Given the description of an element on the screen output the (x, y) to click on. 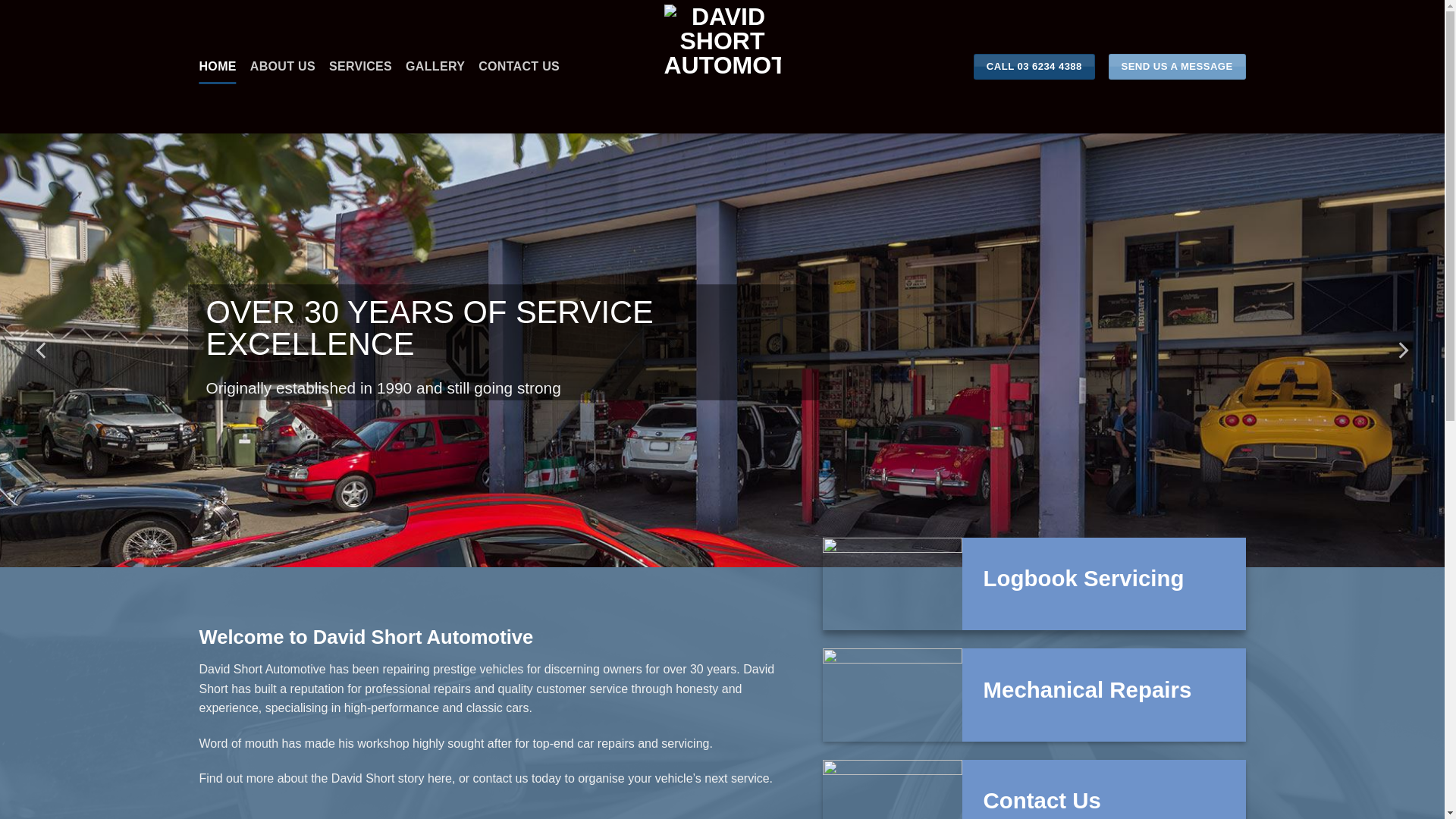
SEND US A MESSAGE Element type: text (1176, 66)
Mechanical Repairs Element type: text (1087, 689)
contact us today Element type: text (517, 777)
ABOUT US Element type: text (282, 66)
SERVICES Element type: text (360, 66)
CALL 03 6234 4388 Element type: text (1034, 66)
CONTACT US Element type: text (518, 66)
here Element type: text (439, 777)
Logbook Servicing Element type: text (1083, 578)
GALLERY Element type: text (434, 66)
David Short Automotive Element type: hover (722, 67)
HOME Element type: text (216, 66)
Contact Us Element type: text (1042, 800)
Skip to content Element type: text (0, 0)
